Given the description of an element on the screen output the (x, y) to click on. 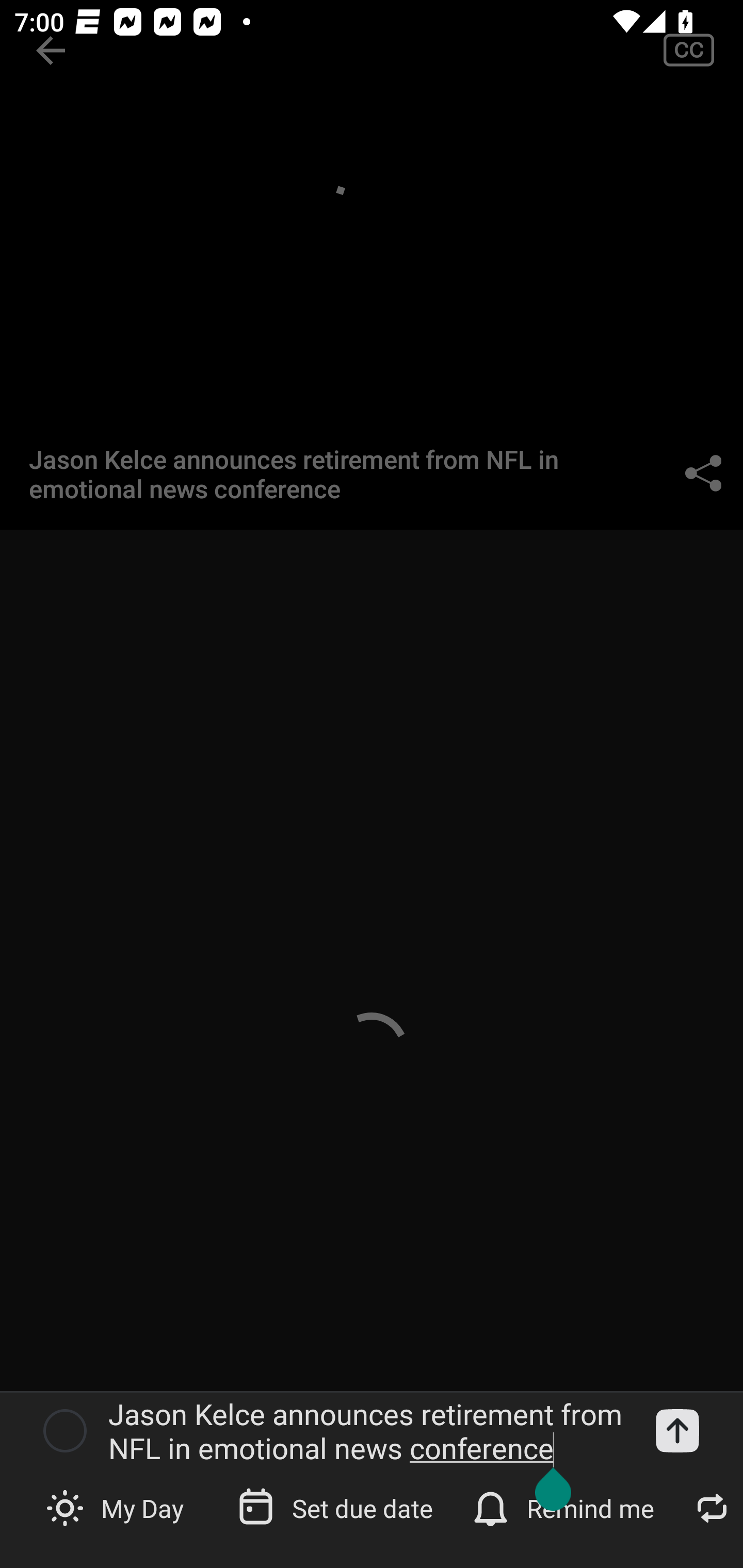
Add a task (676, 1430)
My Day (116, 1507)
Set due date (337, 1507)
Remind me (565, 1507)
